Given the description of an element on the screen output the (x, y) to click on. 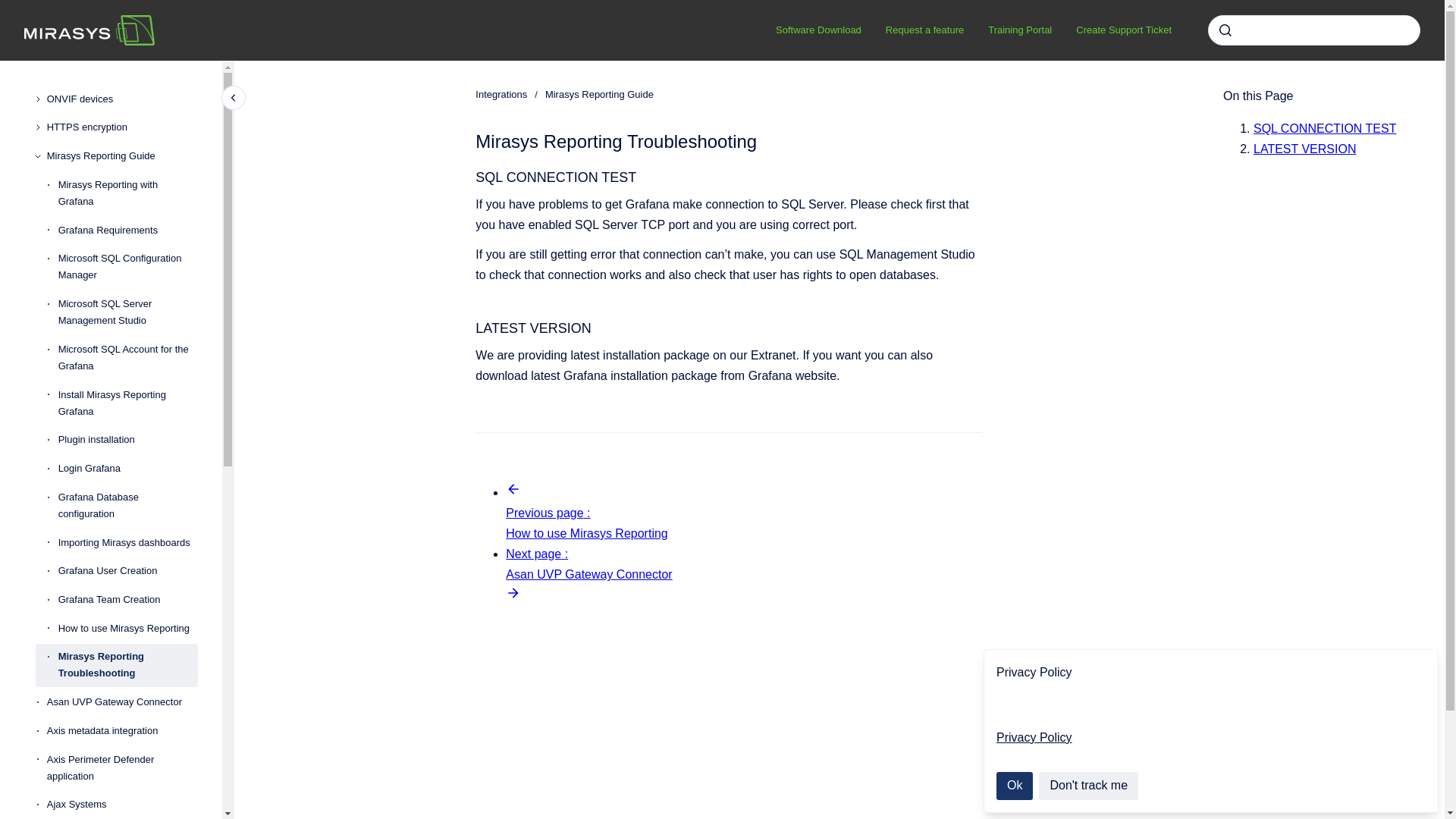
Create Support Ticket (1123, 29)
Asan UVP Gateway Connector (122, 701)
Training Portal (1019, 29)
Don't track me (1088, 786)
Axis Perimeter Defender application (122, 768)
Software Download (817, 29)
Microsoft SQL Server Management Studio (128, 312)
Login Grafana (128, 468)
Privacy Policy (1033, 737)
Grafana Team Creation (128, 599)
ONVIF devices (122, 99)
Mirasys Reporting Guide (122, 155)
Grafana Database configuration (128, 505)
Go to homepage (89, 30)
Ok (1013, 786)
